Given the description of an element on the screen output the (x, y) to click on. 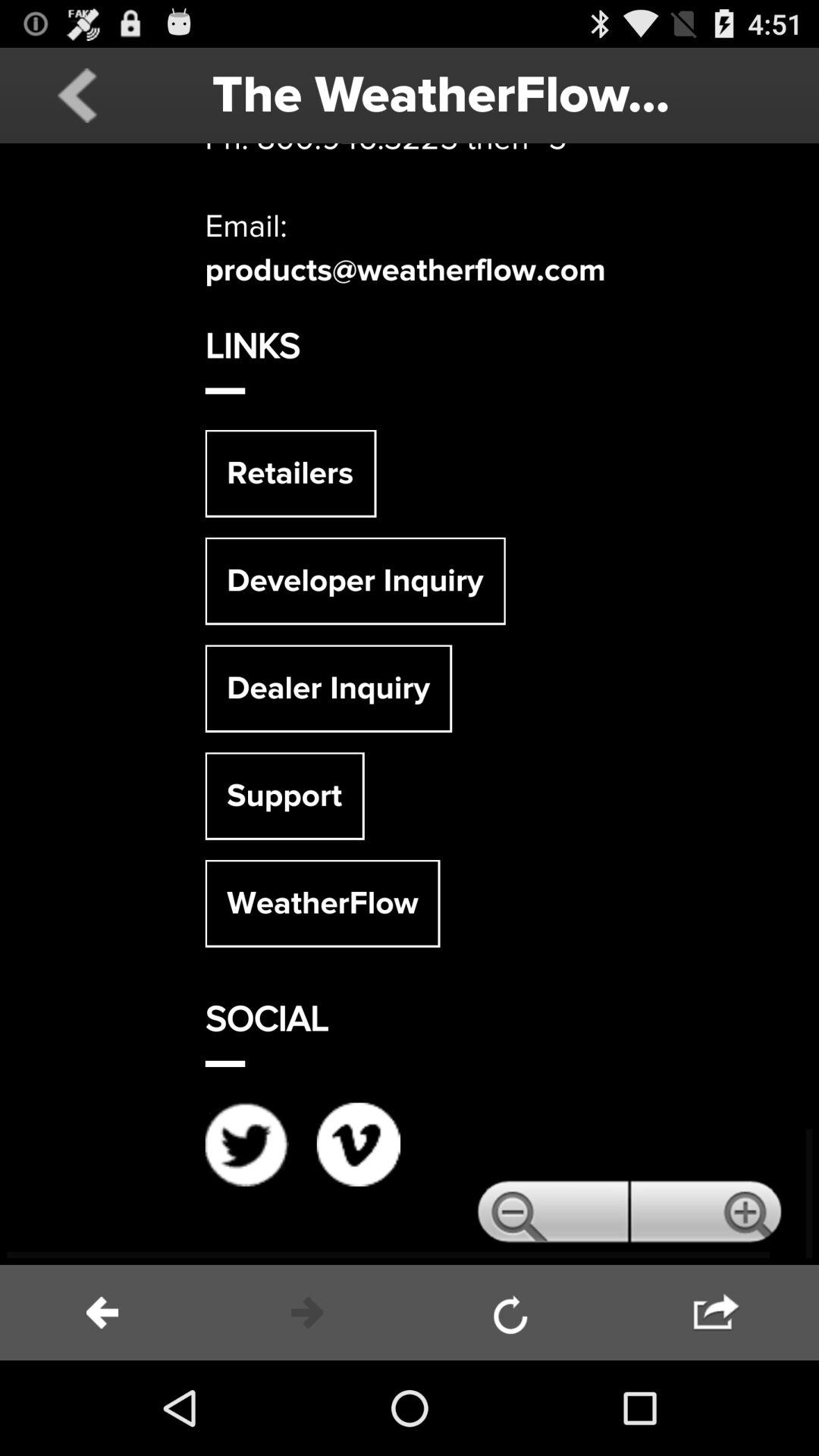
go back (102, 1312)
